Given the description of an element on the screen output the (x, y) to click on. 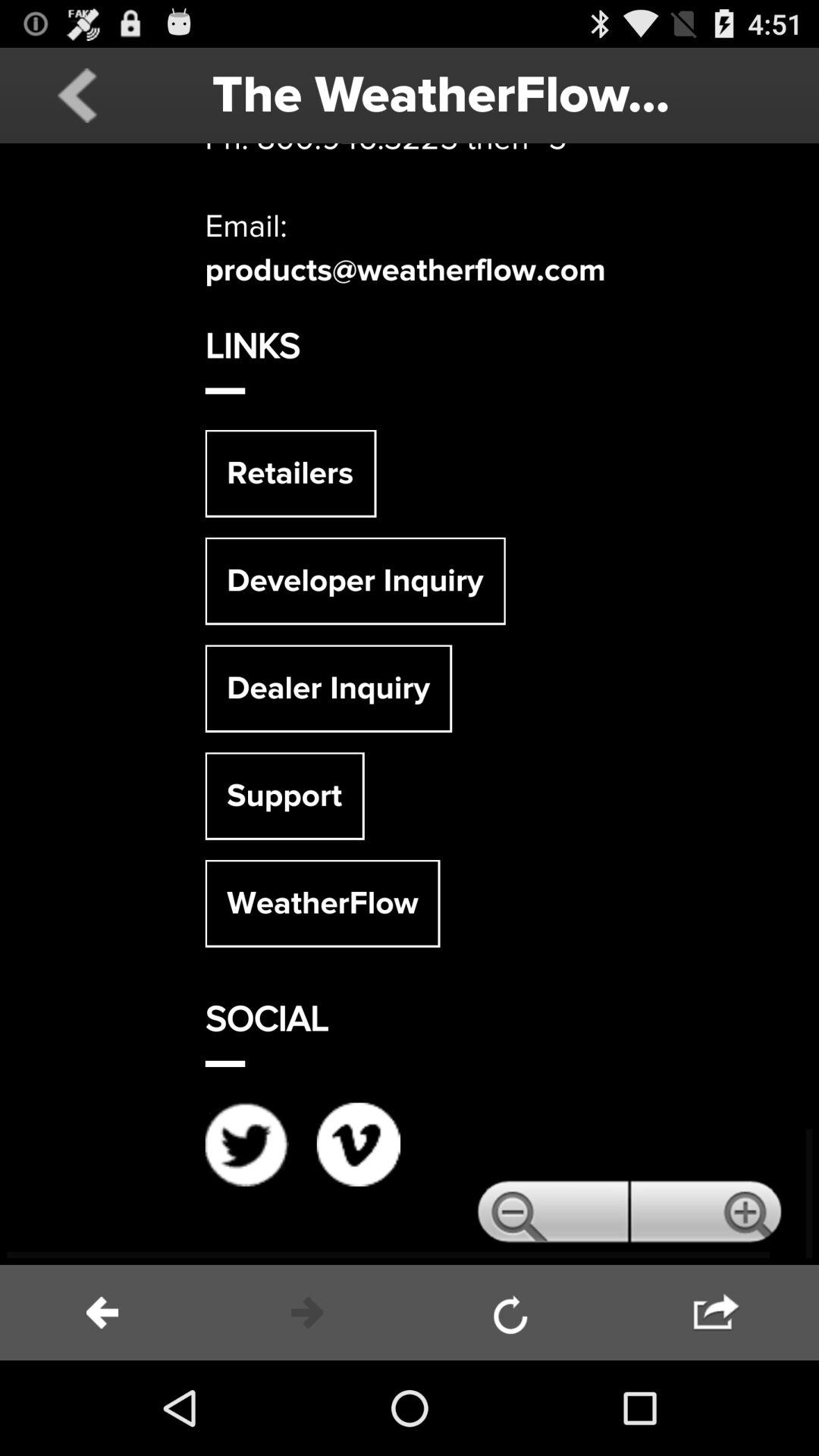
go back (102, 1312)
